Given the description of an element on the screen output the (x, y) to click on. 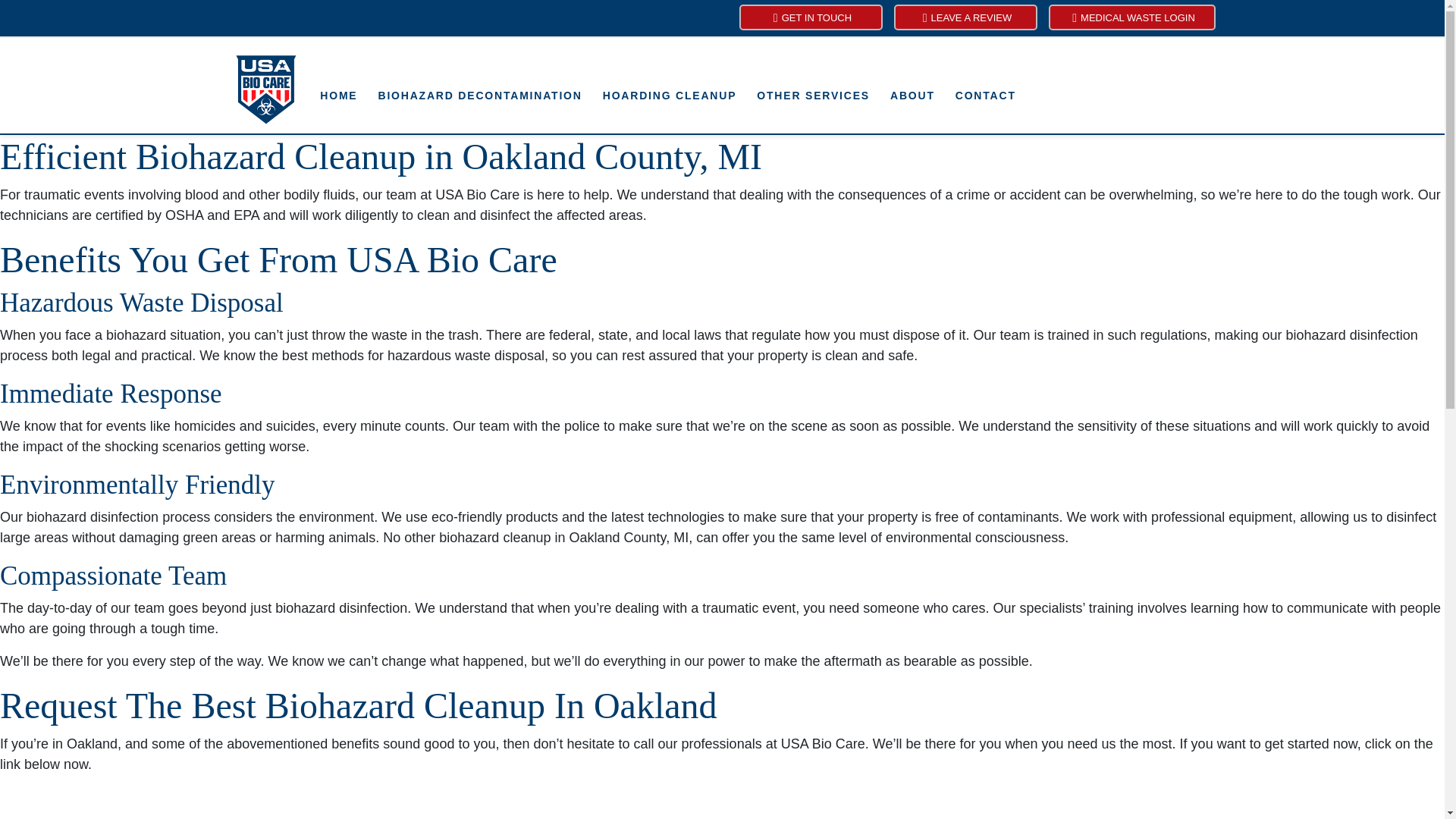
HOME (338, 95)
GET IN TOUCH (810, 17)
LEAVE A REVIEW (964, 17)
MEDICAL WASTE LOGIN (1131, 17)
BIOHAZARD DECONTAMINATION (479, 95)
HOARDING CLEANUP (669, 95)
OTHER SERVICES (812, 95)
